Given the description of an element on the screen output the (x, y) to click on. 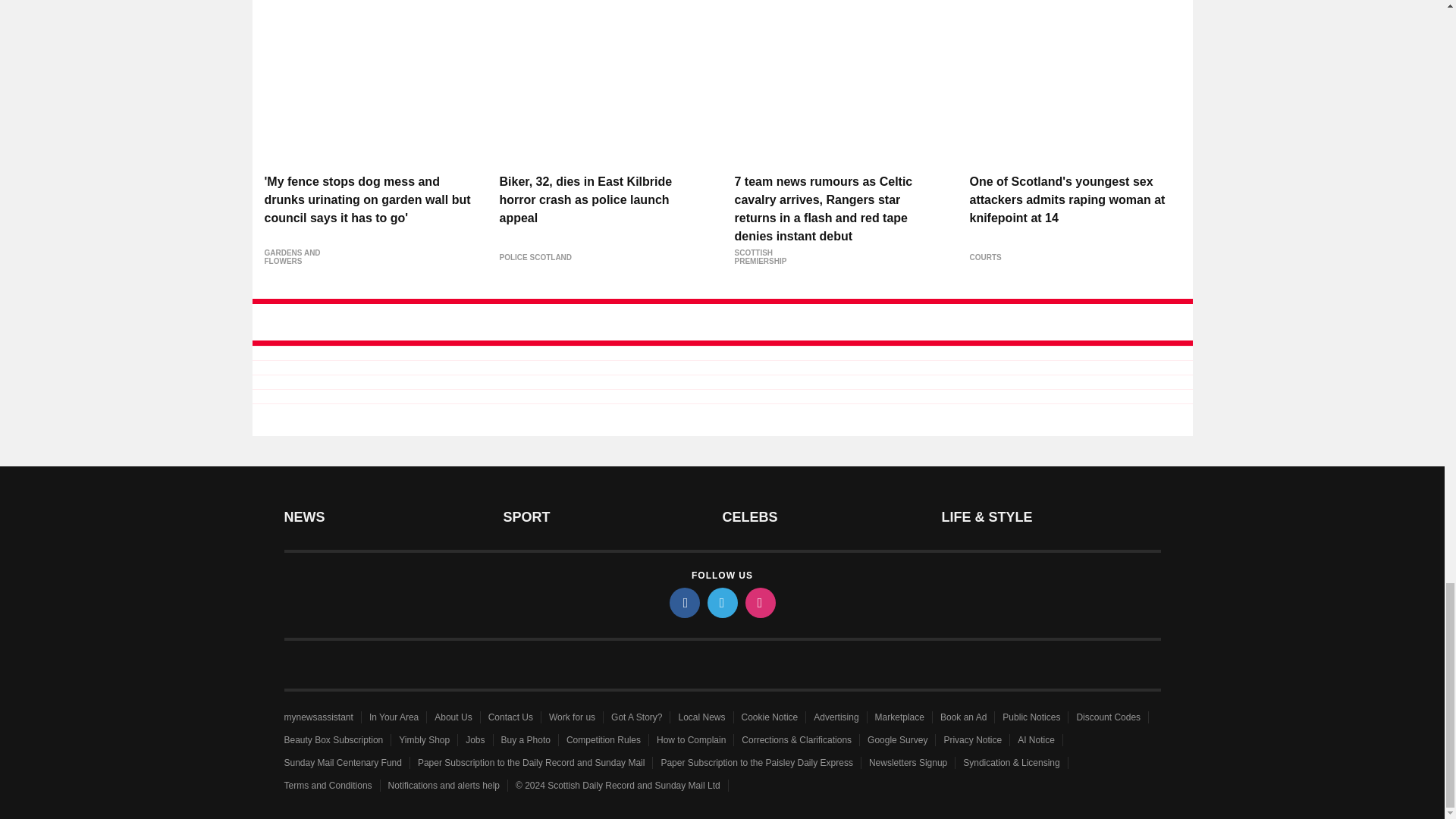
facebook (683, 603)
instagram (759, 603)
twitter (721, 603)
